Given the description of an element on the screen output the (x, y) to click on. 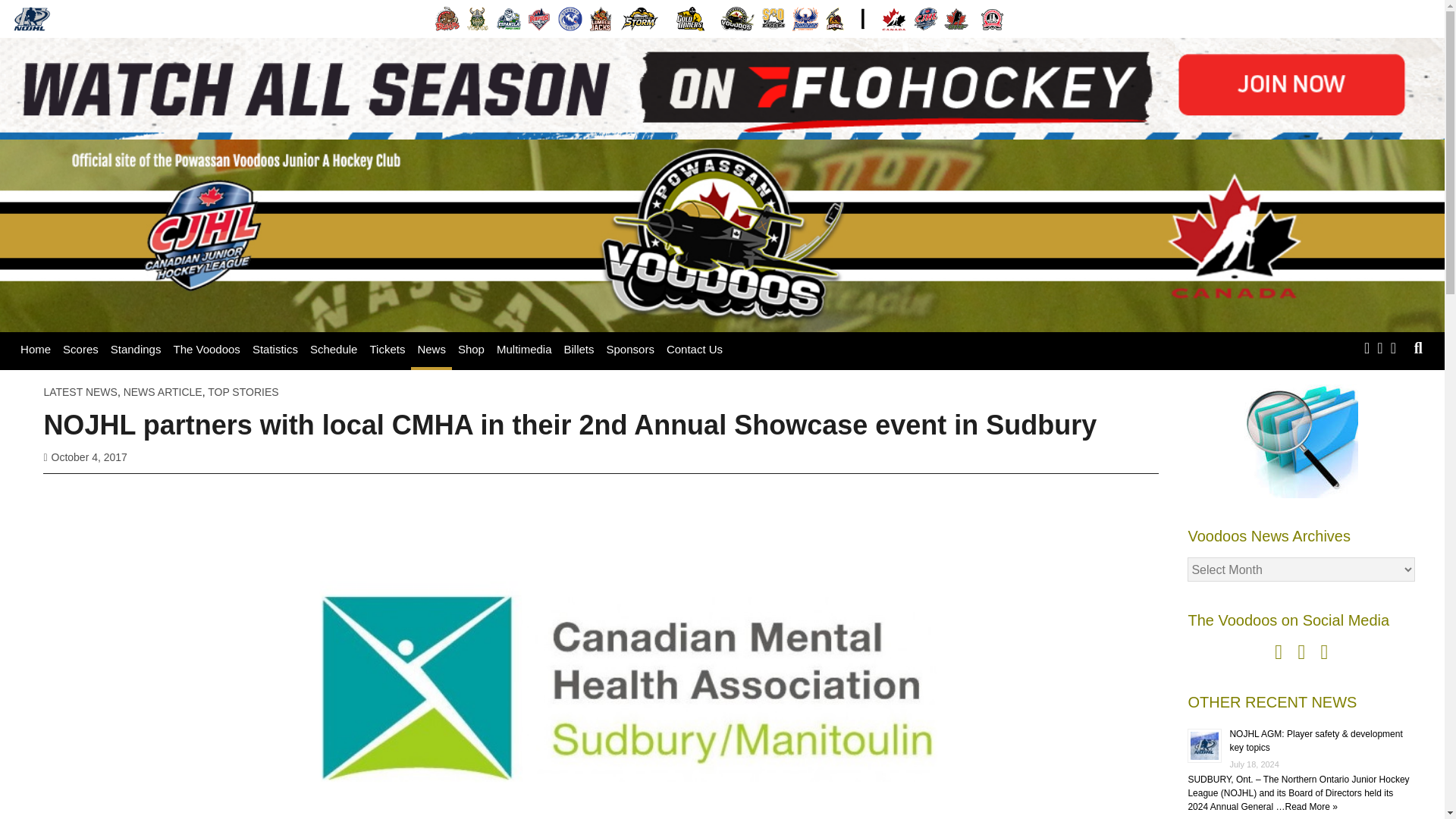
Espanola Paper Kings (508, 18)
French River Rapids (539, 18)
Hearst Lumberjacks (600, 18)
Iroquois Falls Storm (639, 18)
NOJHL (31, 18)
Elliot Lake Vikings (478, 18)
Blind River Beavers (447, 18)
Greater Sudbury Cubs (569, 18)
